Given the description of an element on the screen output the (x, y) to click on. 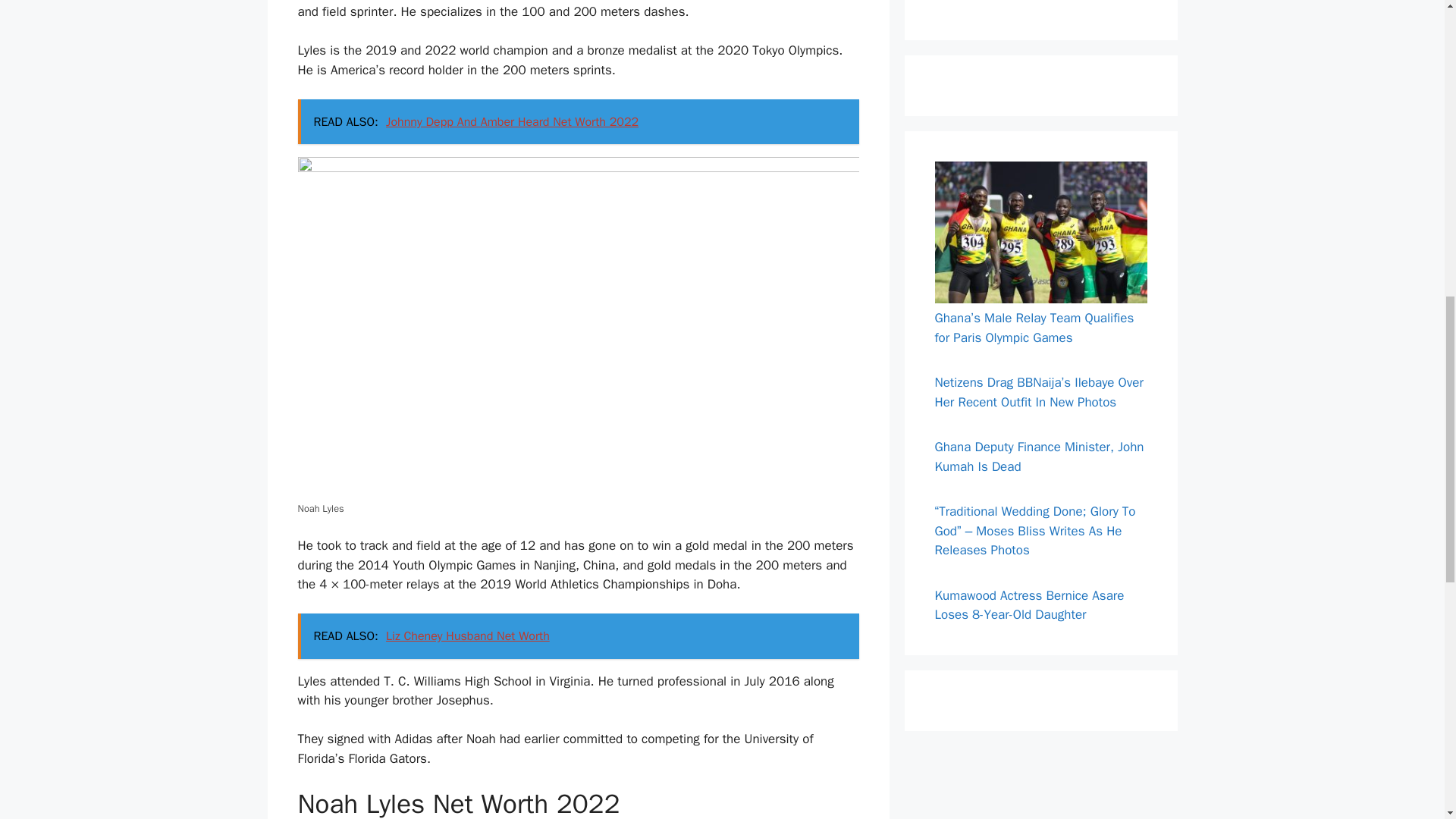
READ ALSO:  Johnny Depp And Amber Heard Net Worth 2022 (578, 121)
Ghana Deputy Finance Minister, John Kumah Is Dead (1038, 456)
Kumawood Actress Bernice Asare Loses 8-Year-Old Daughter (1029, 605)
READ ALSO:  Liz Cheney Husband Net Worth (578, 636)
